Given the description of an element on the screen output the (x, y) to click on. 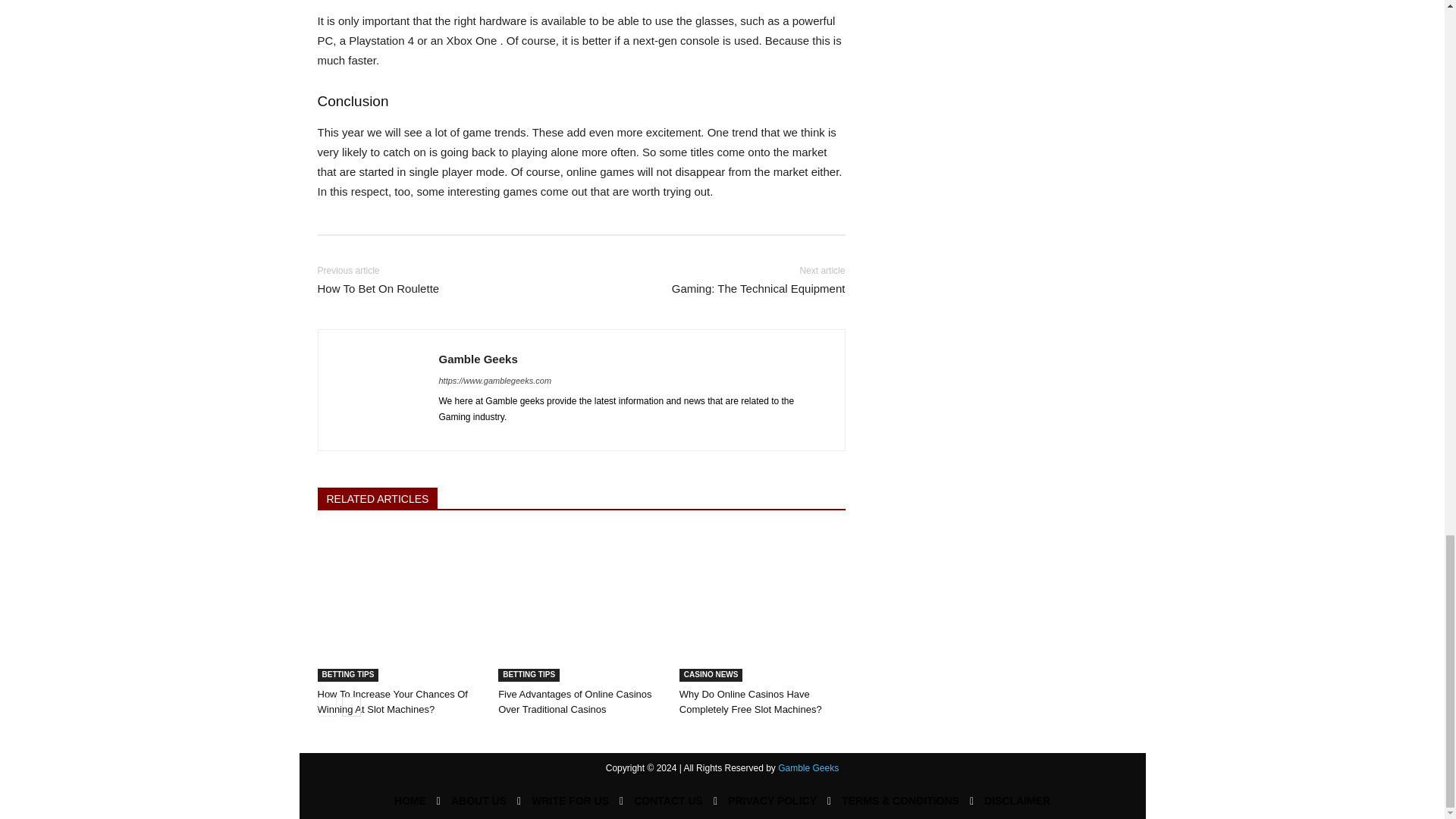
How To Increase Your Chances Of Winning At Slot Machines? (400, 587)
How To Increase Your Chances Of Winning At Slot Machines? (392, 701)
